Given the description of an element on the screen output the (x, y) to click on. 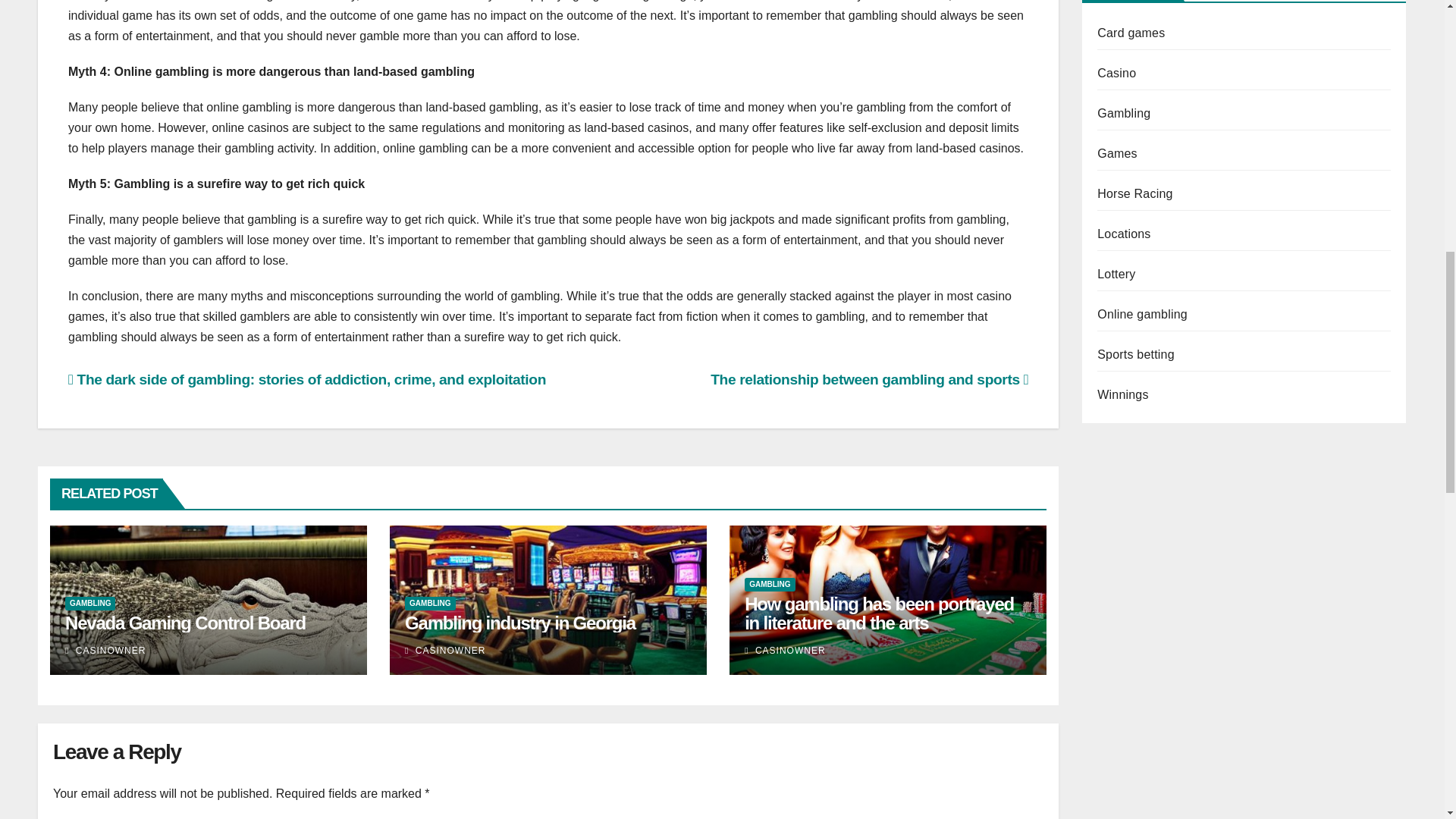
CASINOWNER (784, 650)
The relationship between gambling and sports (868, 379)
GAMBLING (429, 603)
CASINOWNER (444, 650)
Permalink to: Gambling industry in Georgia (519, 622)
Nevada Gaming Control Board (185, 622)
Permalink to: Nevada Gaming Control Board (185, 622)
CASINOWNER (105, 650)
GAMBLING (769, 584)
Gambling industry in Georgia (519, 622)
How gambling has been portrayed in literature and the arts (878, 613)
GAMBLING (90, 603)
